Given the description of an element on the screen output the (x, y) to click on. 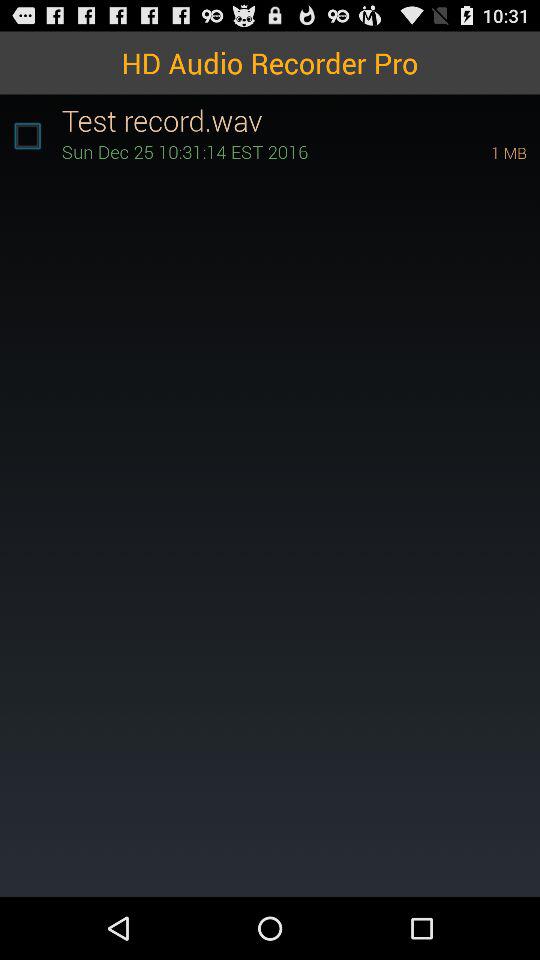
select the icon next to test record.wav item (27, 136)
